Given the description of an element on the screen output the (x, y) to click on. 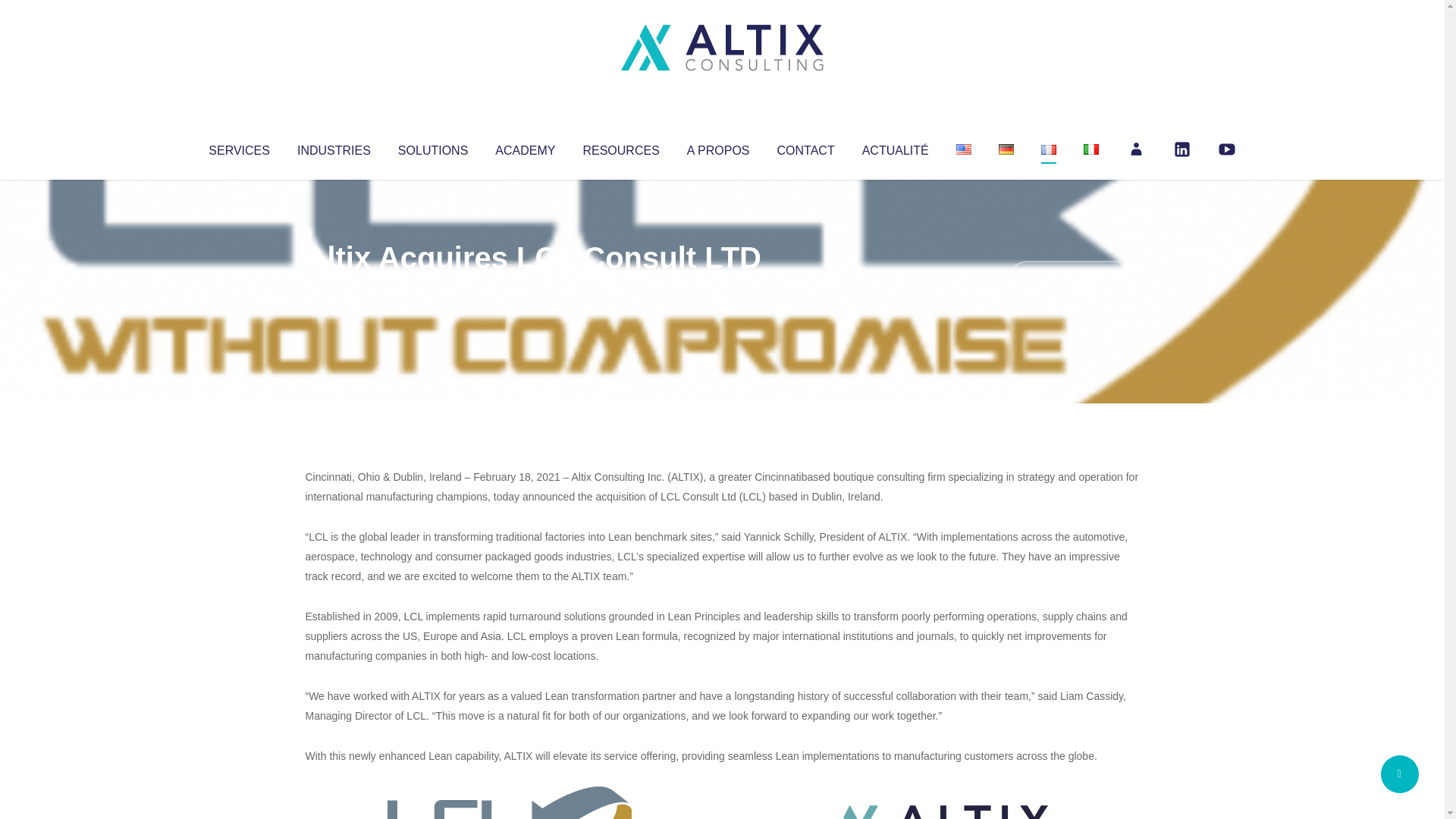
Articles par Altix (333, 287)
RESOURCES (620, 146)
SERVICES (238, 146)
SOLUTIONS (432, 146)
Uncategorized (530, 287)
No Comments (1073, 278)
ACADEMY (524, 146)
Altix (333, 287)
A PROPOS (718, 146)
INDUSTRIES (334, 146)
